Given the description of an element on the screen output the (x, y) to click on. 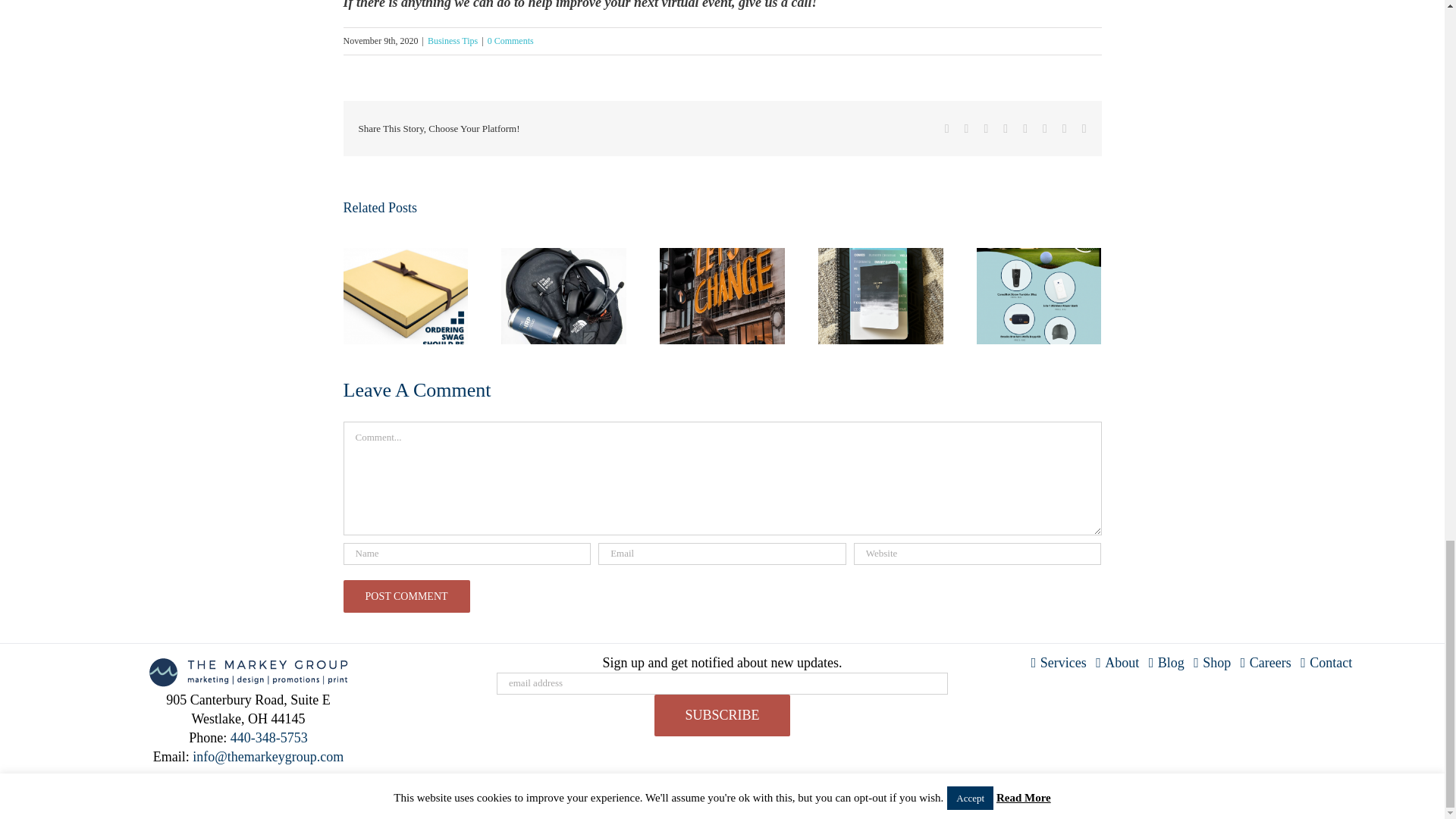
Post Comment (405, 595)
Subscribe (721, 715)
